Given the description of an element on the screen output the (x, y) to click on. 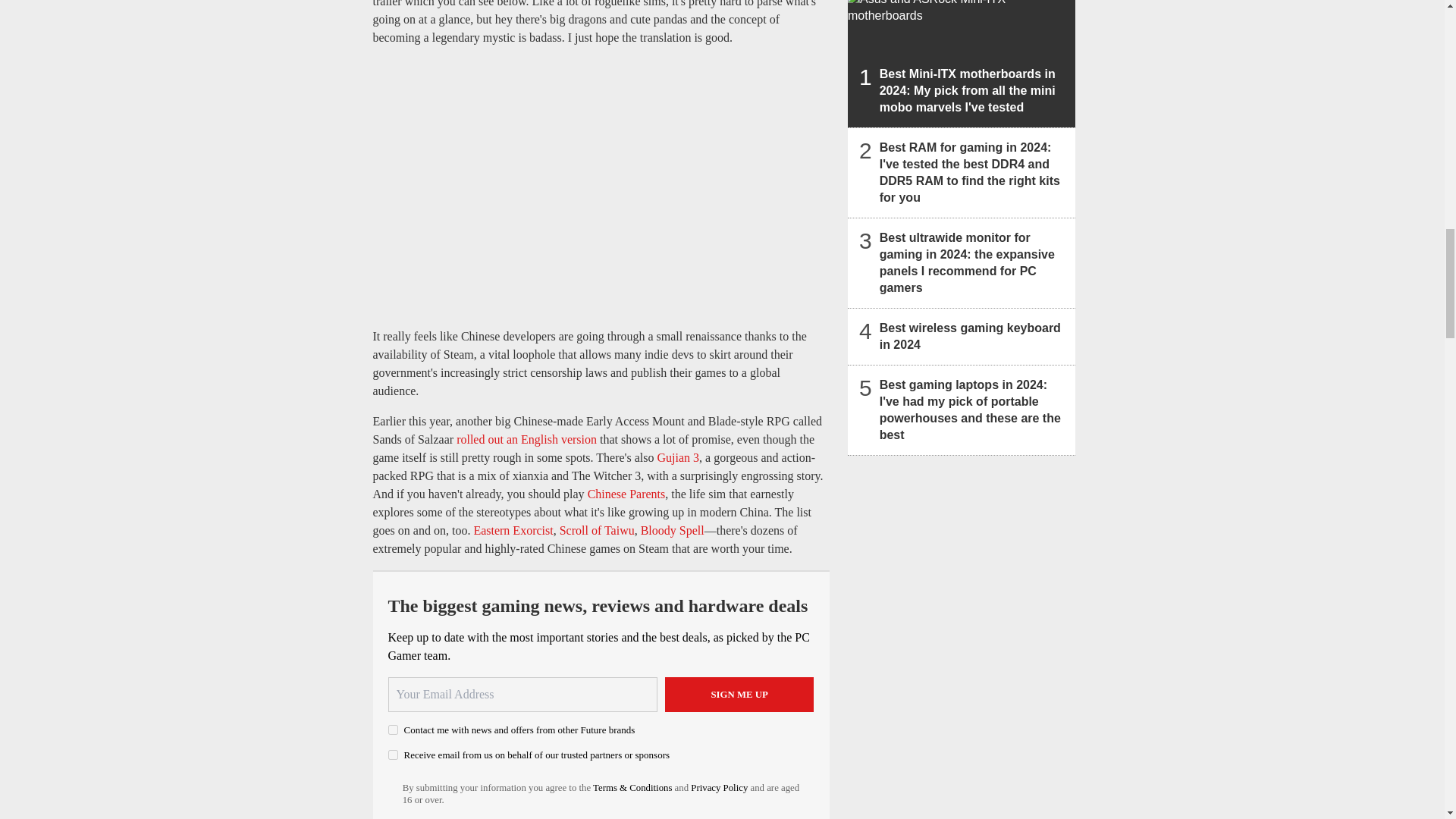
on (392, 755)
on (392, 729)
Sign me up (739, 694)
